Given the description of an element on the screen output the (x, y) to click on. 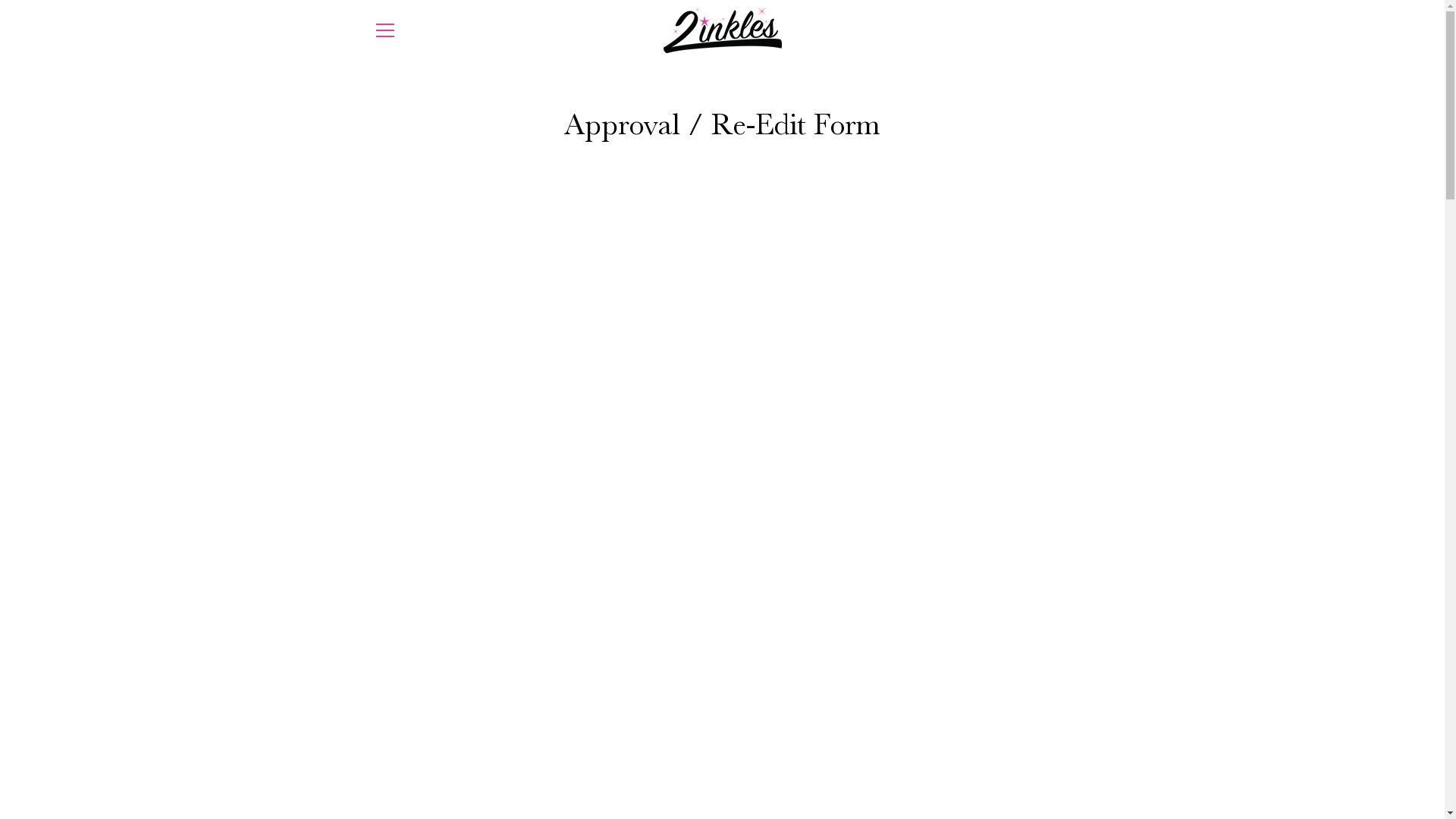
MENU Element type: text (384, 30)
Skip to content Element type: text (0, 0)
2inkles Element type: text (1002, 779)
HOME Element type: text (644, 719)
CONTACT US Element type: text (782, 719)
ABOUT US Element type: text (704, 719)
